Given the description of an element on the screen output the (x, y) to click on. 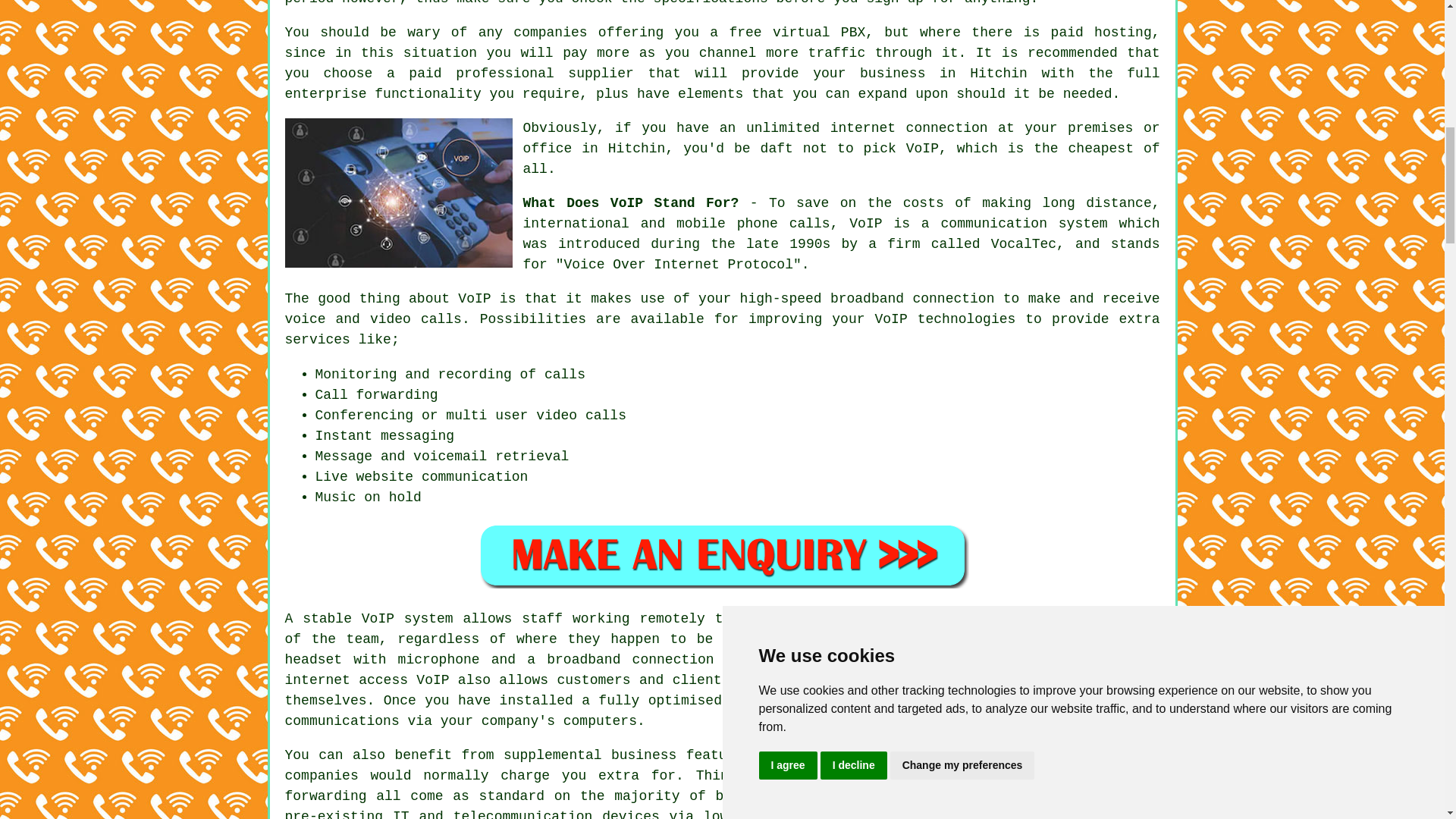
free virtual PBX (796, 32)
phone calls (782, 223)
Quotes for Telephone Systems in Hitchin Hertfordshire (722, 555)
IT and telecommunication (492, 814)
VoIP (922, 148)
VoIP (377, 618)
connection (953, 298)
